Given the description of an element on the screen output the (x, y) to click on. 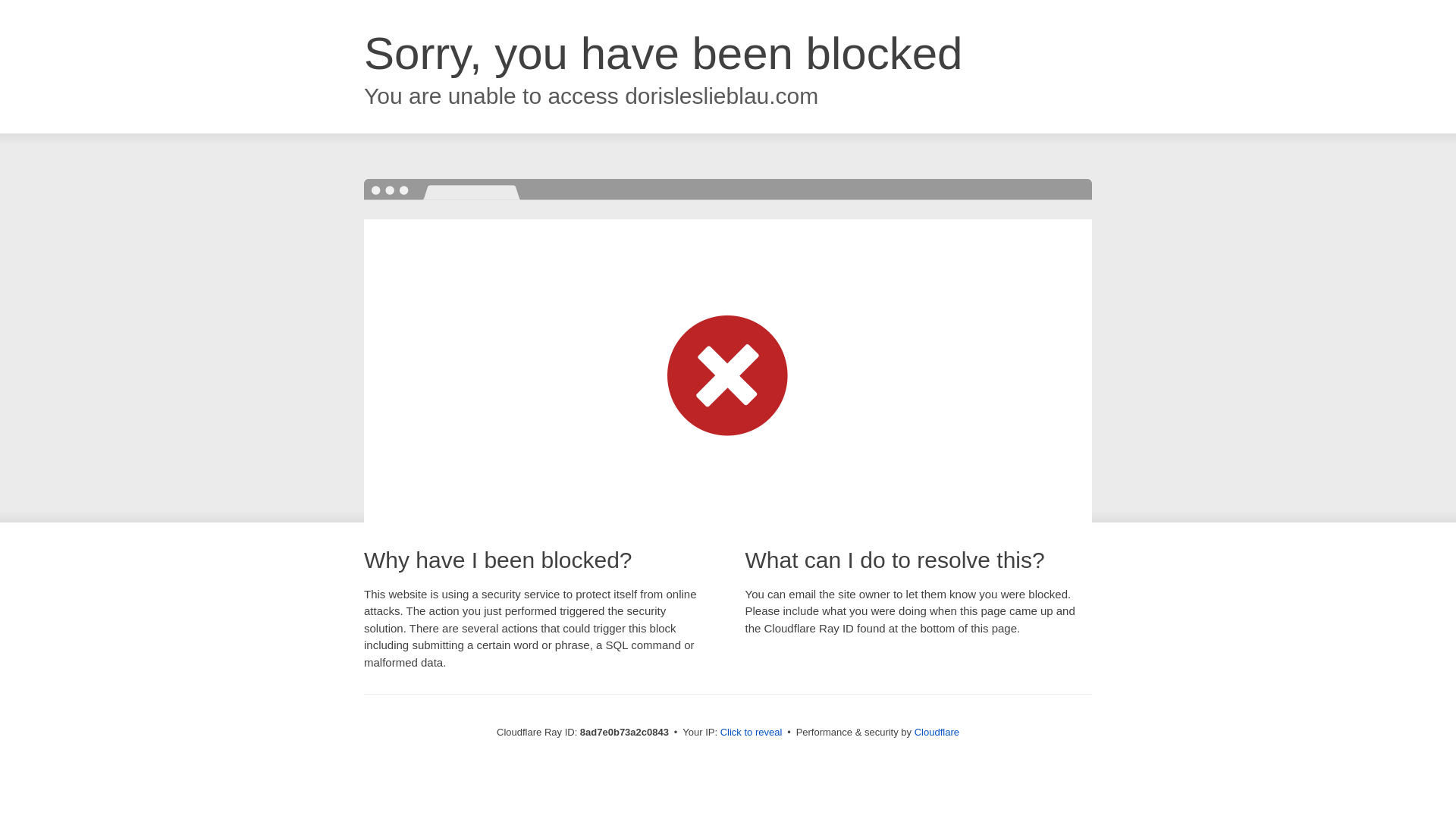
Click to reveal (751, 732)
Cloudflare (936, 731)
